Given the description of an element on the screen output the (x, y) to click on. 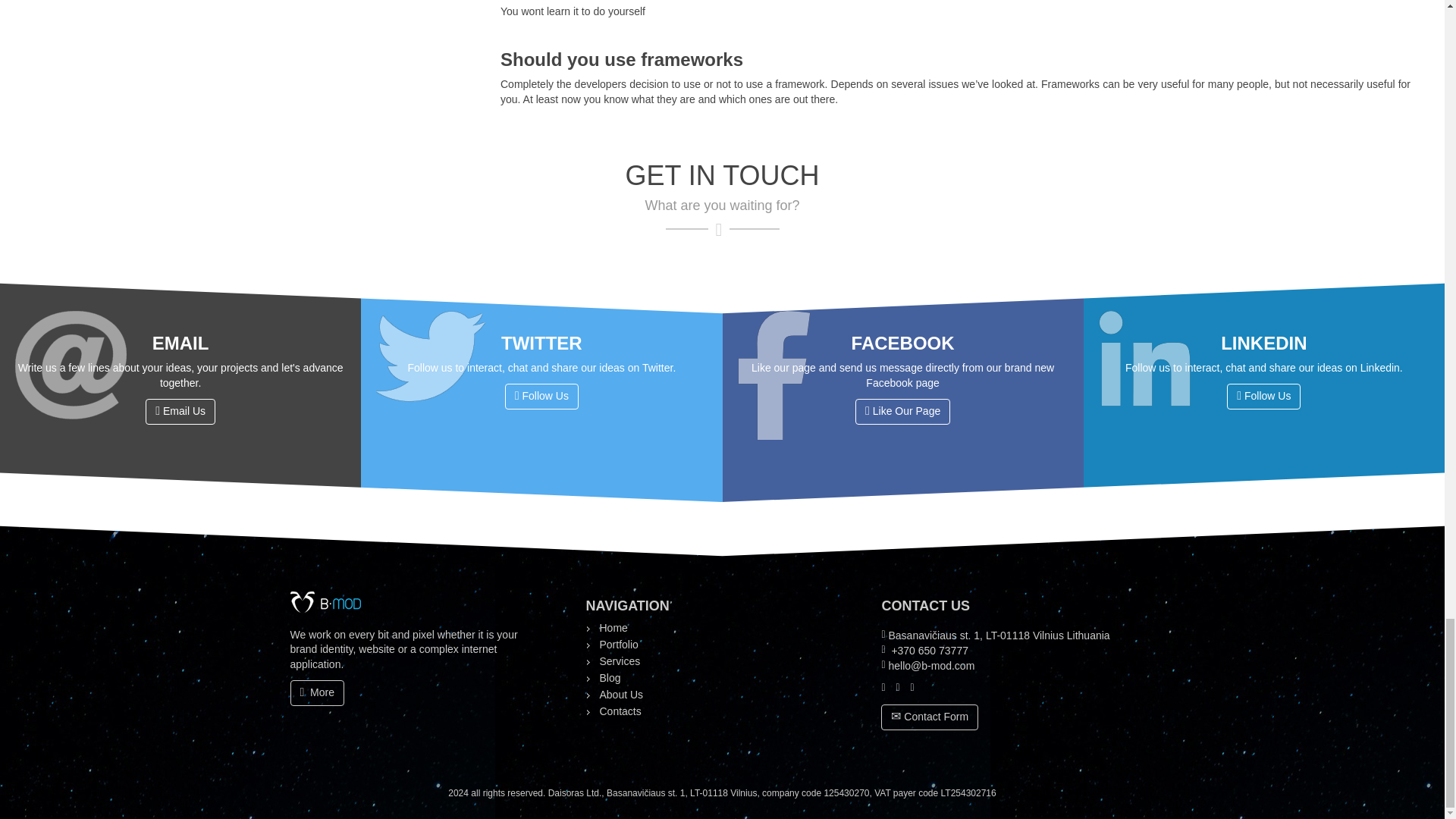
Follow Us (1263, 396)
Blog (609, 677)
Like Our Page (903, 411)
Services (619, 661)
About Us (620, 694)
  More (316, 692)
Contacts (619, 711)
Portfolio (617, 644)
Email Us (180, 411)
Follow Us (541, 396)
Home (612, 627)
Contact Form (929, 717)
